Given the description of an element on the screen output the (x, y) to click on. 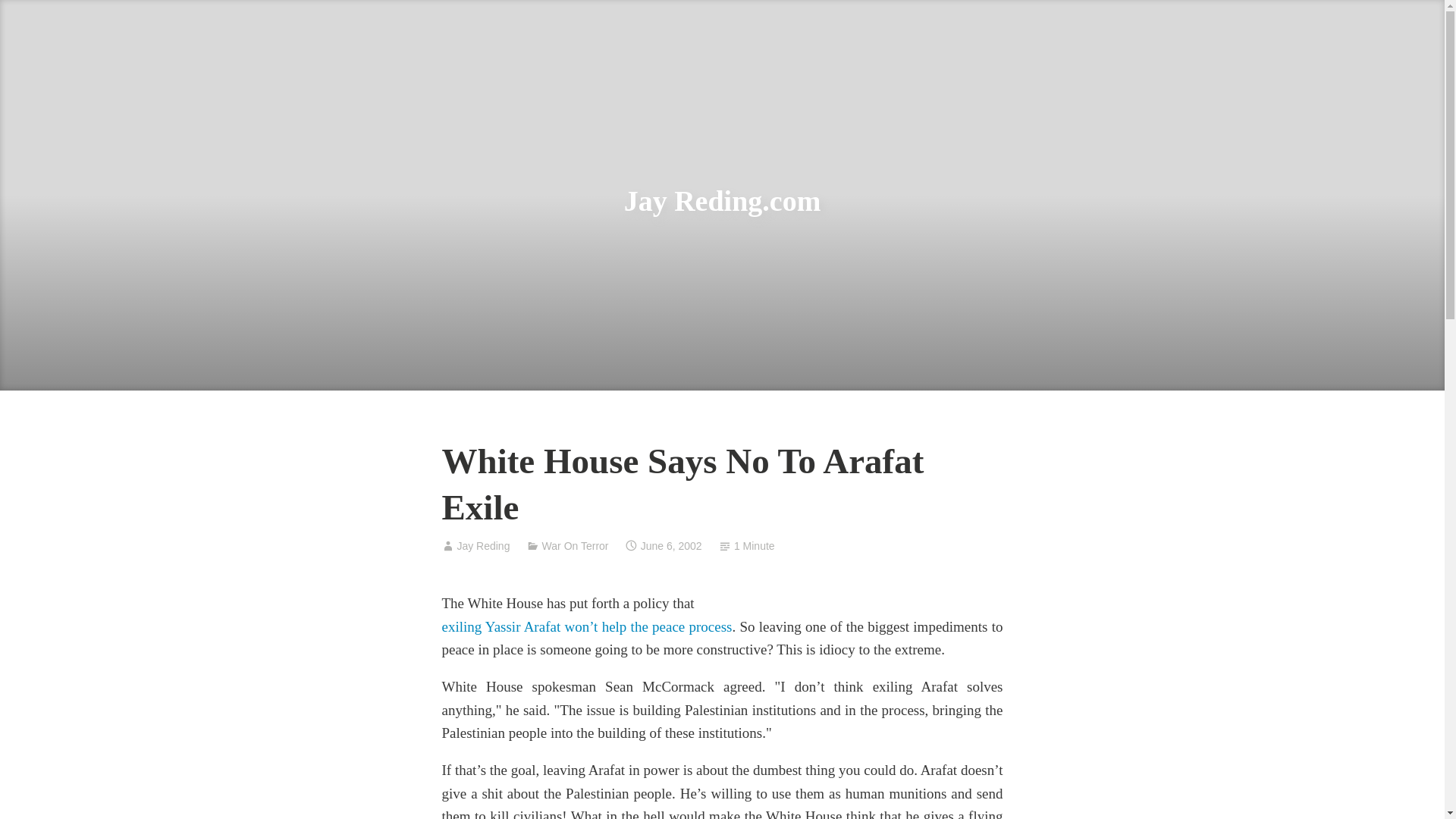
Posts by Jay Reding (483, 545)
War On Terror (574, 545)
Jay Reding.com (722, 201)
Jay Reding (483, 545)
